Given the description of an element on the screen output the (x, y) to click on. 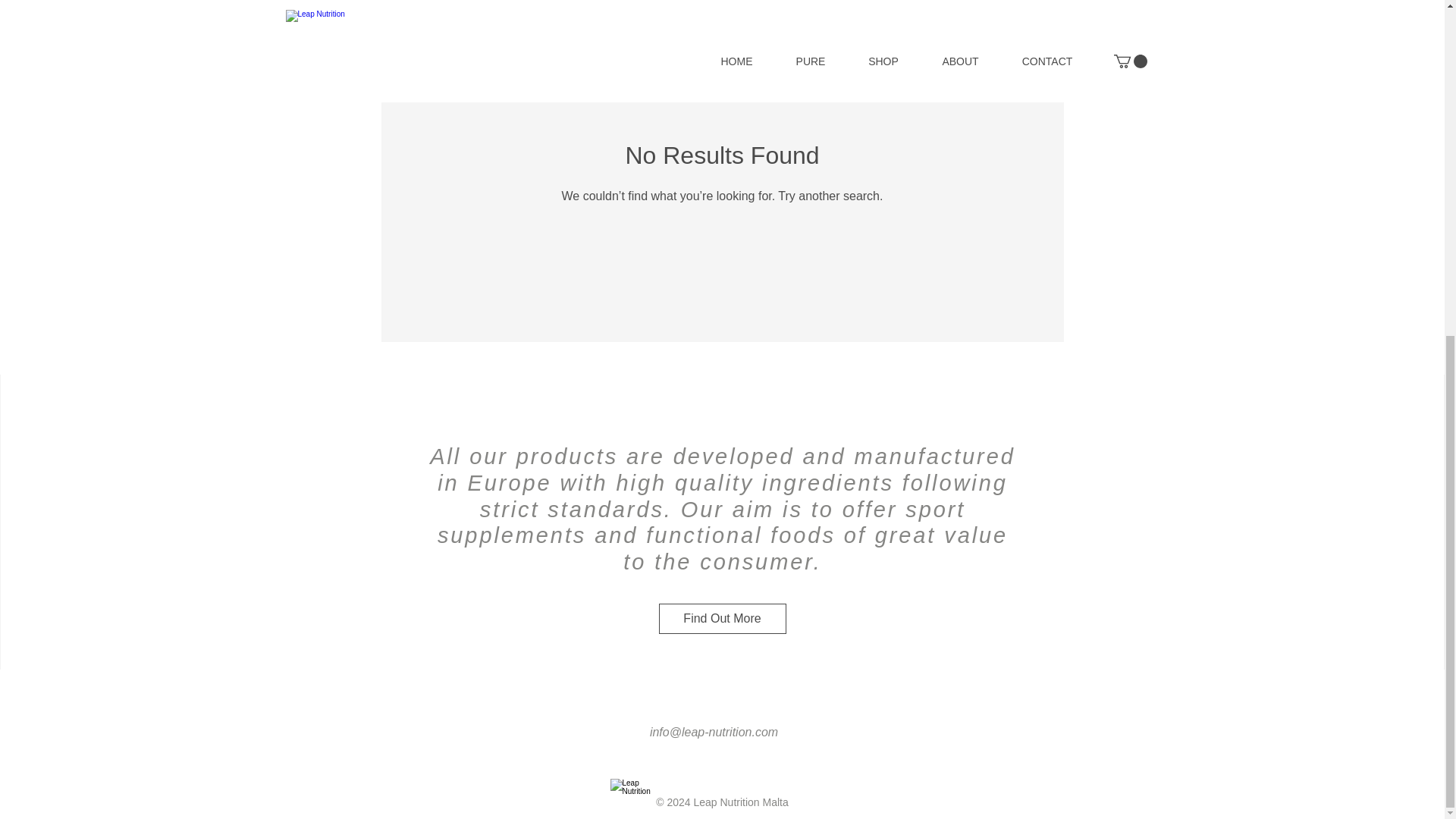
Home (181, 471)
Facebook (1265, 471)
Shop (182, 495)
About (182, 519)
Subscribe Now (907, 528)
Wholesale Inquiries (545, 519)
Shipping Costs (544, 471)
Privacy Policy (544, 567)
Find Out More (722, 618)
Instagram (1265, 495)
Payment Methods (545, 543)
Contact (182, 543)
